Given the description of an element on the screen output the (x, y) to click on. 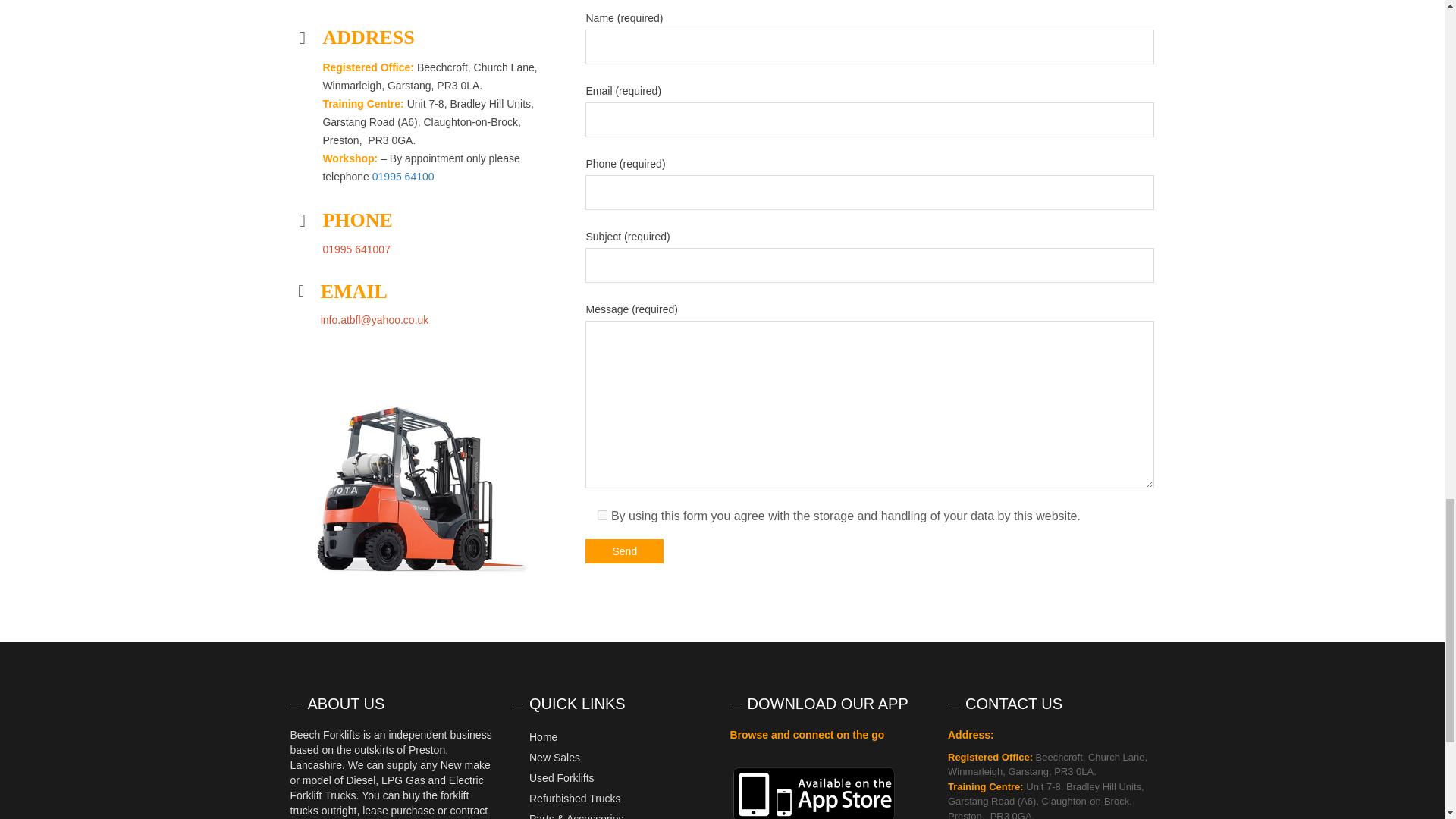
driver cpc training (418, 489)
Send (624, 550)
1 (601, 515)
